Given the description of an element on the screen output the (x, y) to click on. 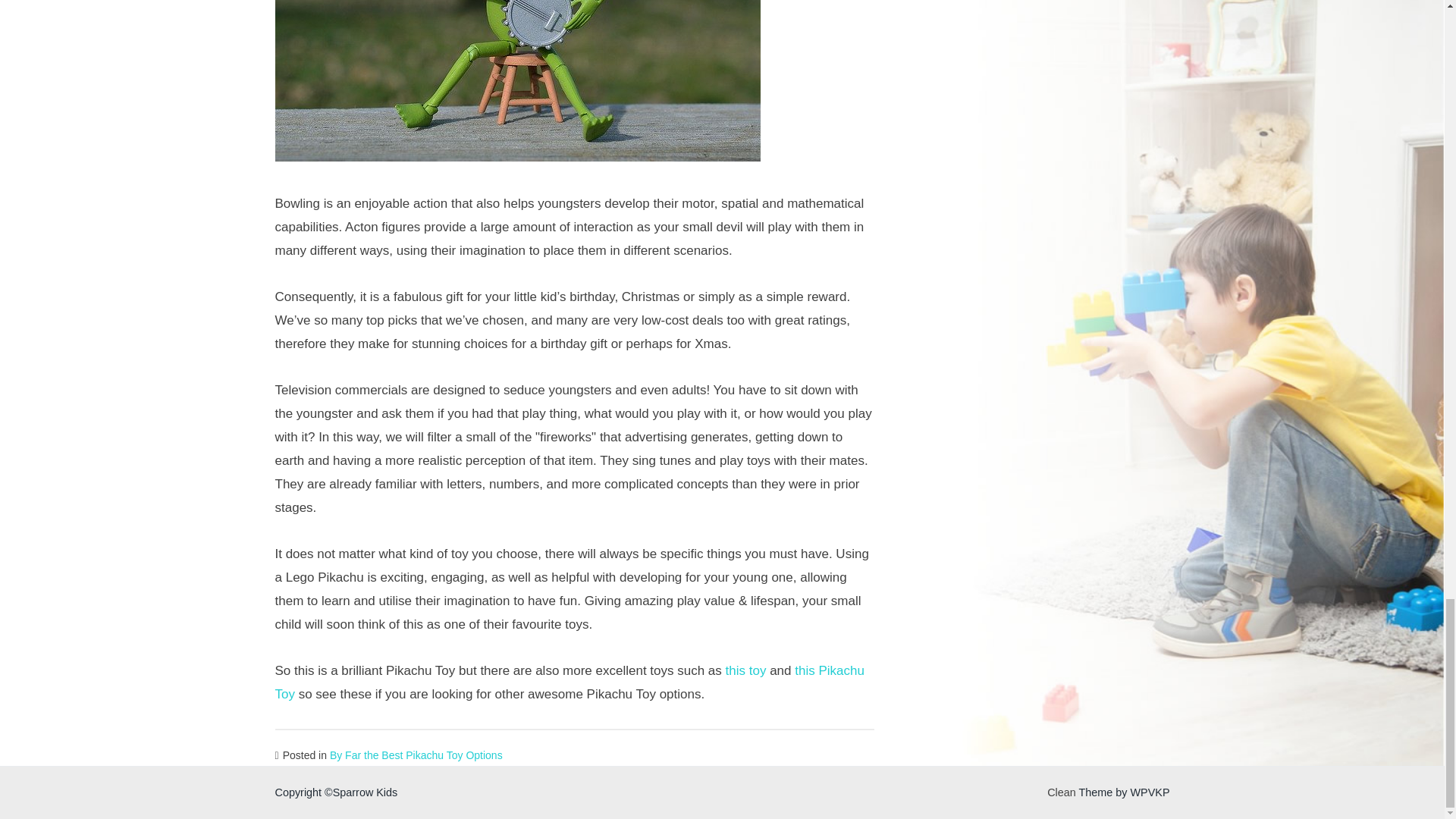
Childrens Toy Box (517, 80)
this toy (746, 670)
By Far the Best Pikachu Toy Options (416, 755)
this Pikachu Toy (569, 682)
Clean (1060, 792)
